Given the description of an element on the screen output the (x, y) to click on. 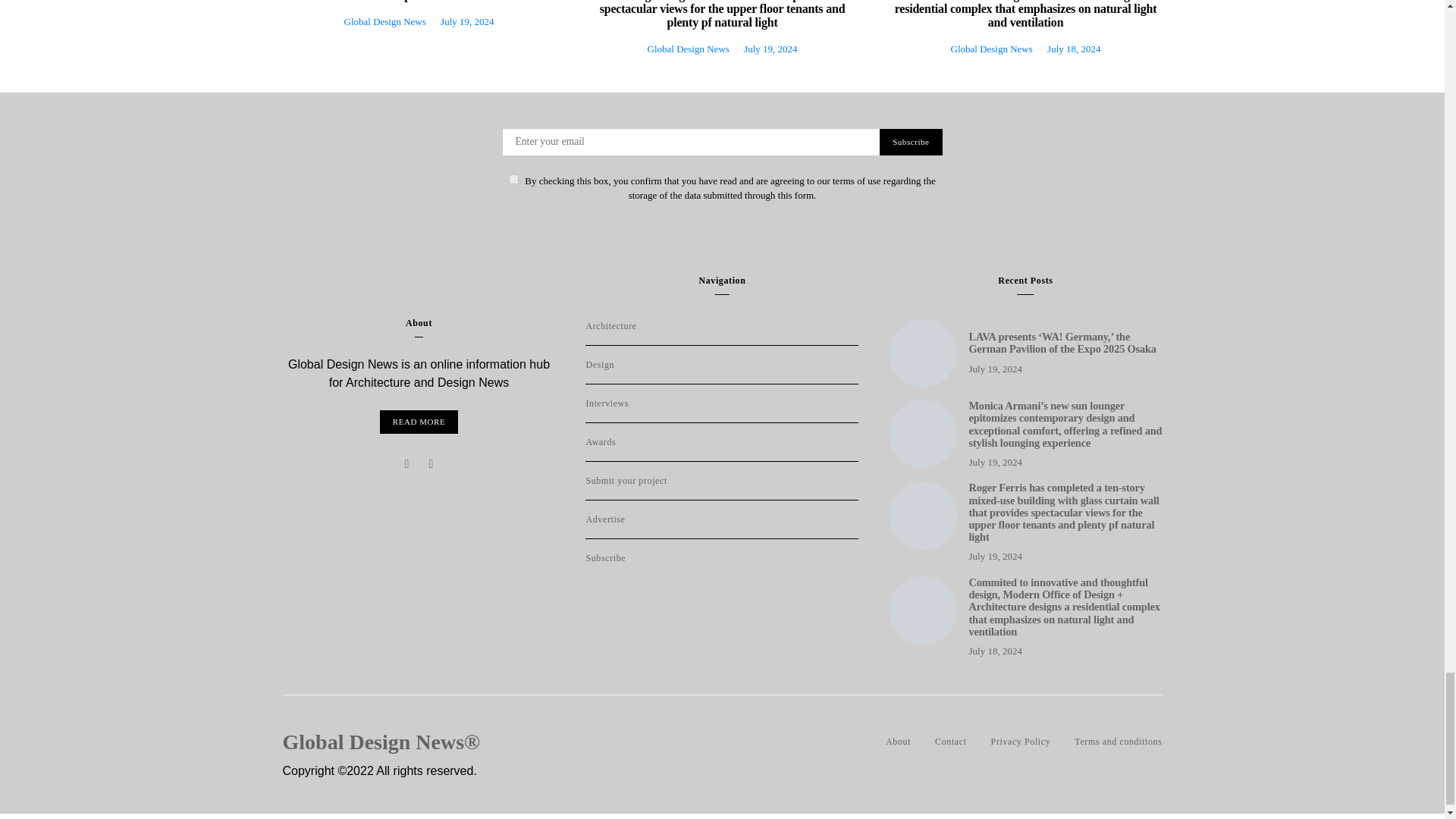
View all posts by Global Design News (688, 48)
on (513, 179)
View all posts by Global Design News (384, 21)
View all posts by Global Design News (991, 48)
